Given the description of an element on the screen output the (x, y) to click on. 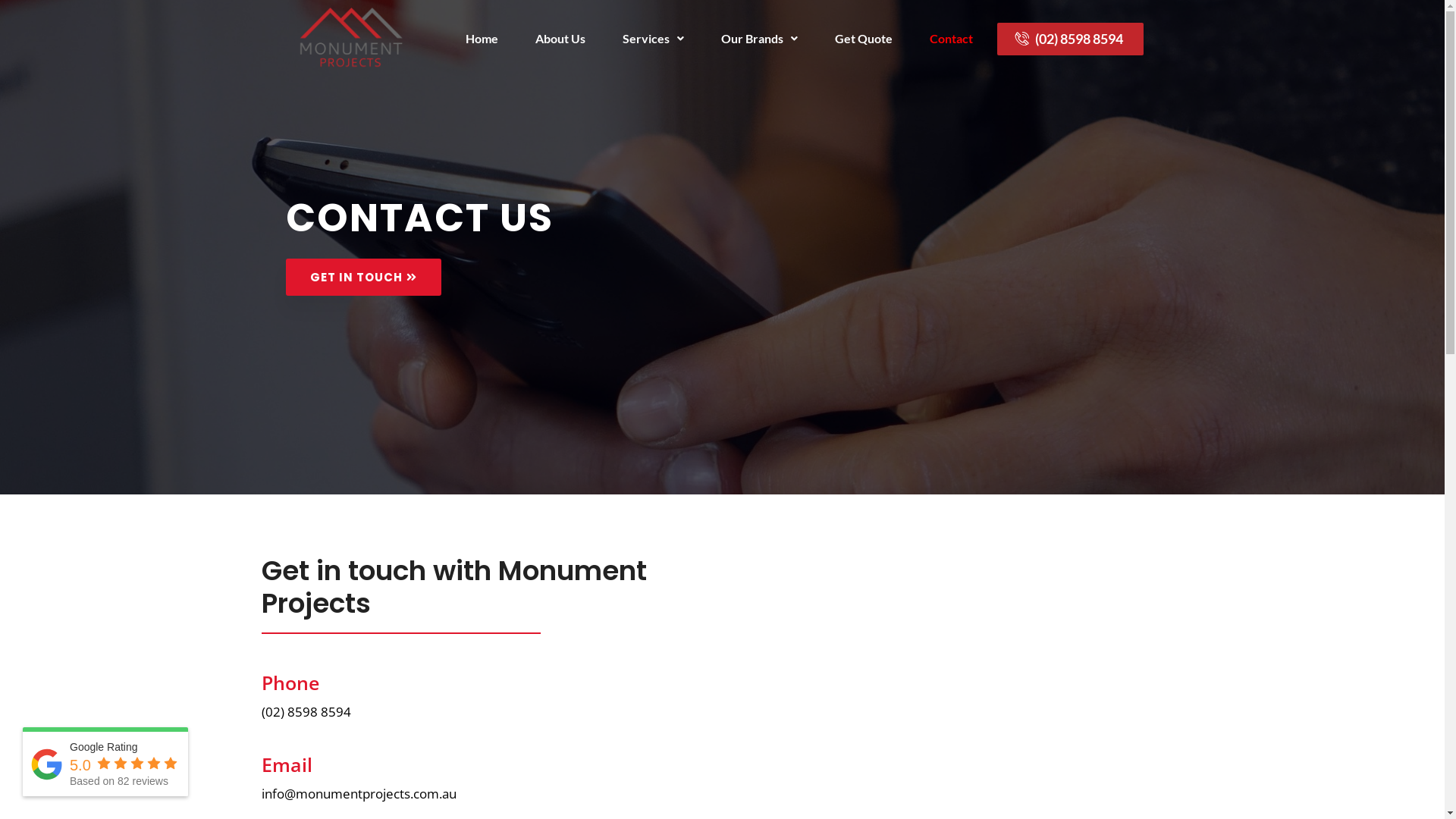
(02) 8598 8594 Element type: text (1070, 38)
Home Element type: text (481, 38)
Contact Element type: text (951, 38)
Get Quote Element type: text (863, 38)
Services Element type: text (653, 38)
Phone Element type: text (290, 682)
Our Brands Element type: text (759, 38)
Email Element type: text (286, 764)
About Us Element type: text (560, 38)
GET IN TOUCH Element type: text (362, 276)
